Given the description of an element on the screen output the (x, y) to click on. 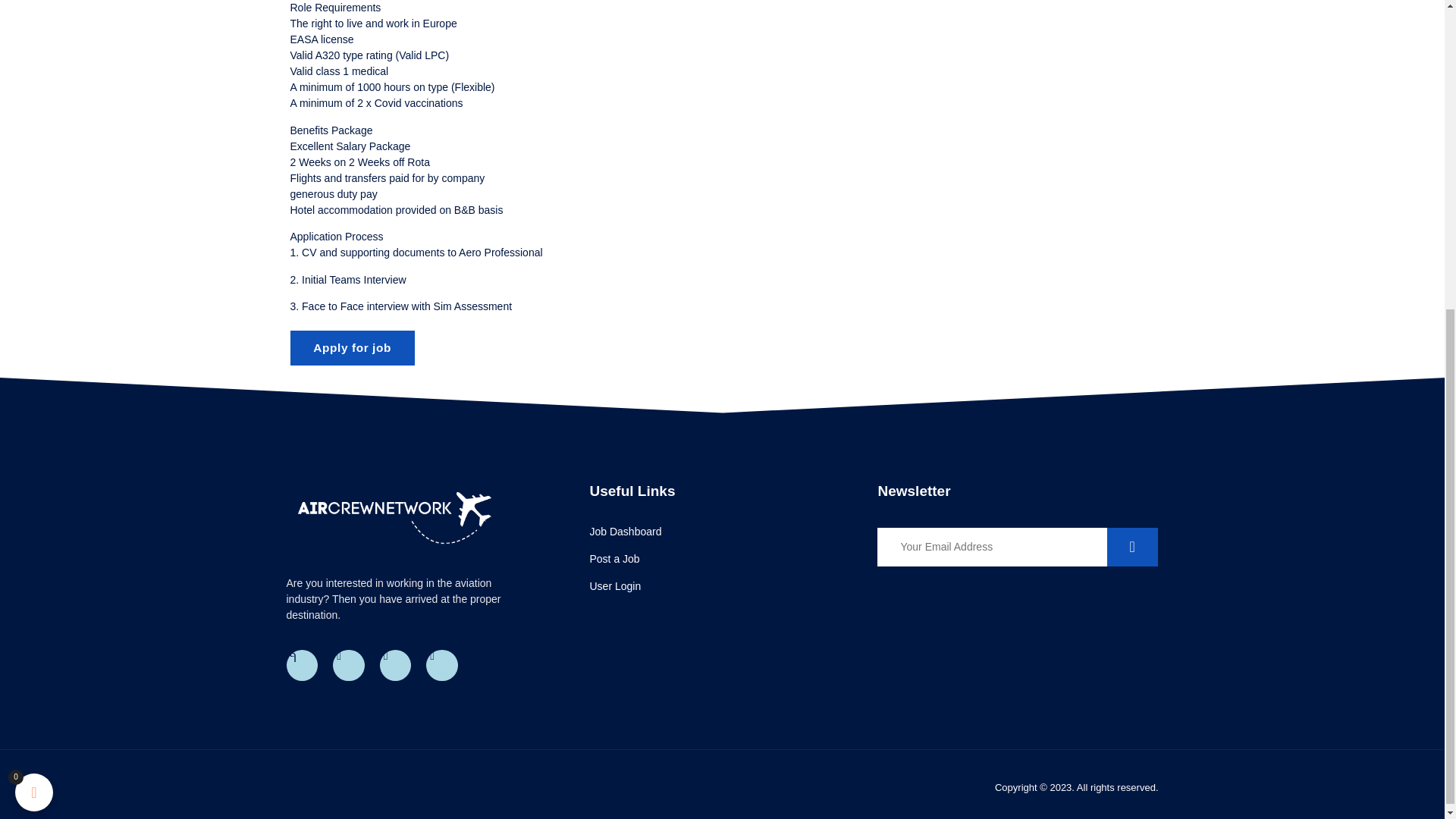
Apply for job (351, 347)
Job Dashboard (725, 531)
Post a Job (725, 559)
User Login (725, 586)
